Given the description of an element on the screen output the (x, y) to click on. 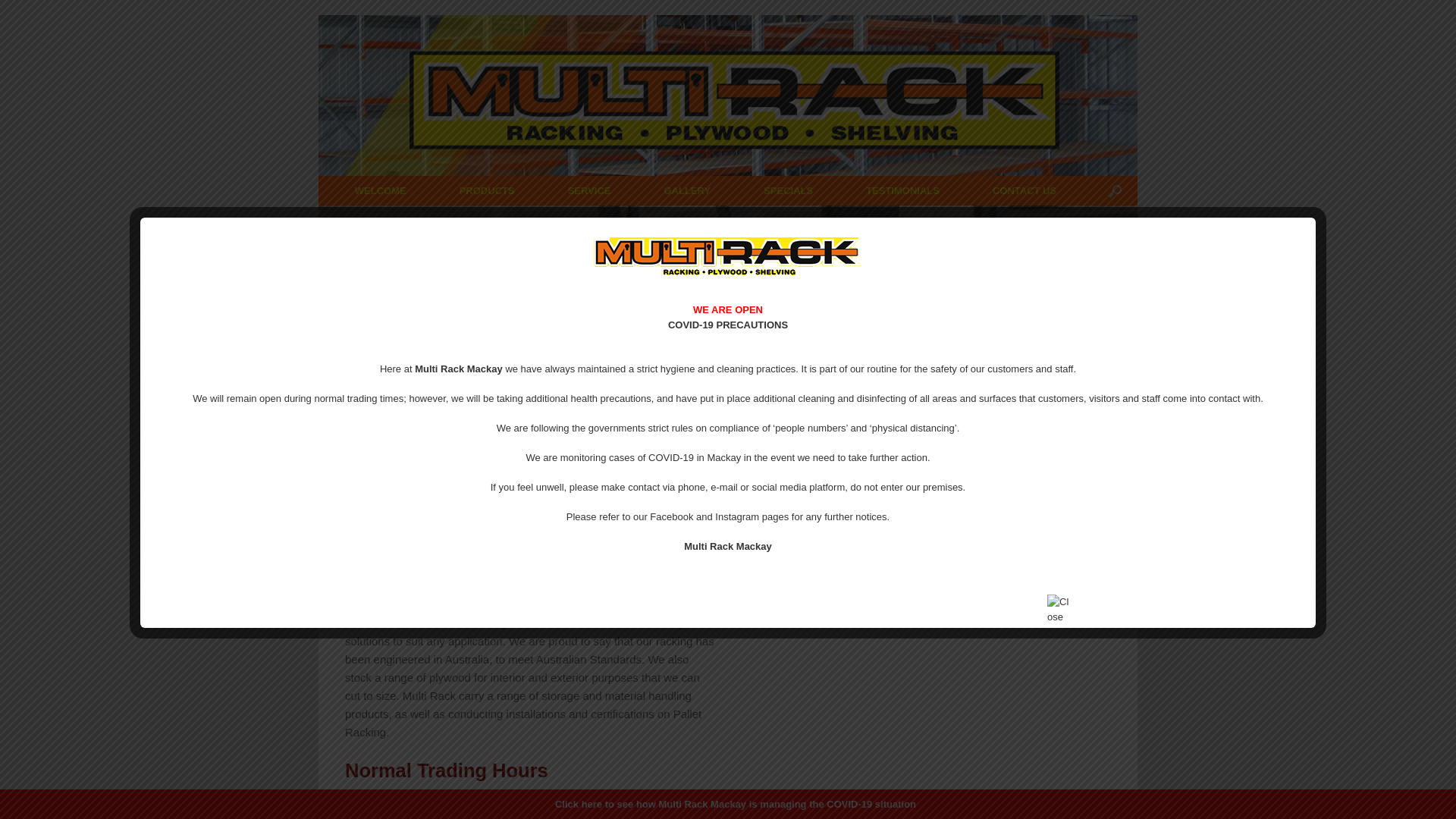
TESTIMONIALS Element type: text (902, 190)
WELCOME Element type: text (380, 190)
PRODUCTS Element type: text (487, 190)
multi-rack_f45b091c58 Element type: hover (727, 256)
SERVICE Element type: text (589, 190)
Close Element type: hover (1060, 607)
GALLERY Element type: text (687, 190)
2 Element type: text (1136, 561)
CONTACT US Element type: text (1024, 190)
SPECIALS Element type: text (788, 190)
1 Element type: text (1125, 561)
